Given the description of an element on the screen output the (x, y) to click on. 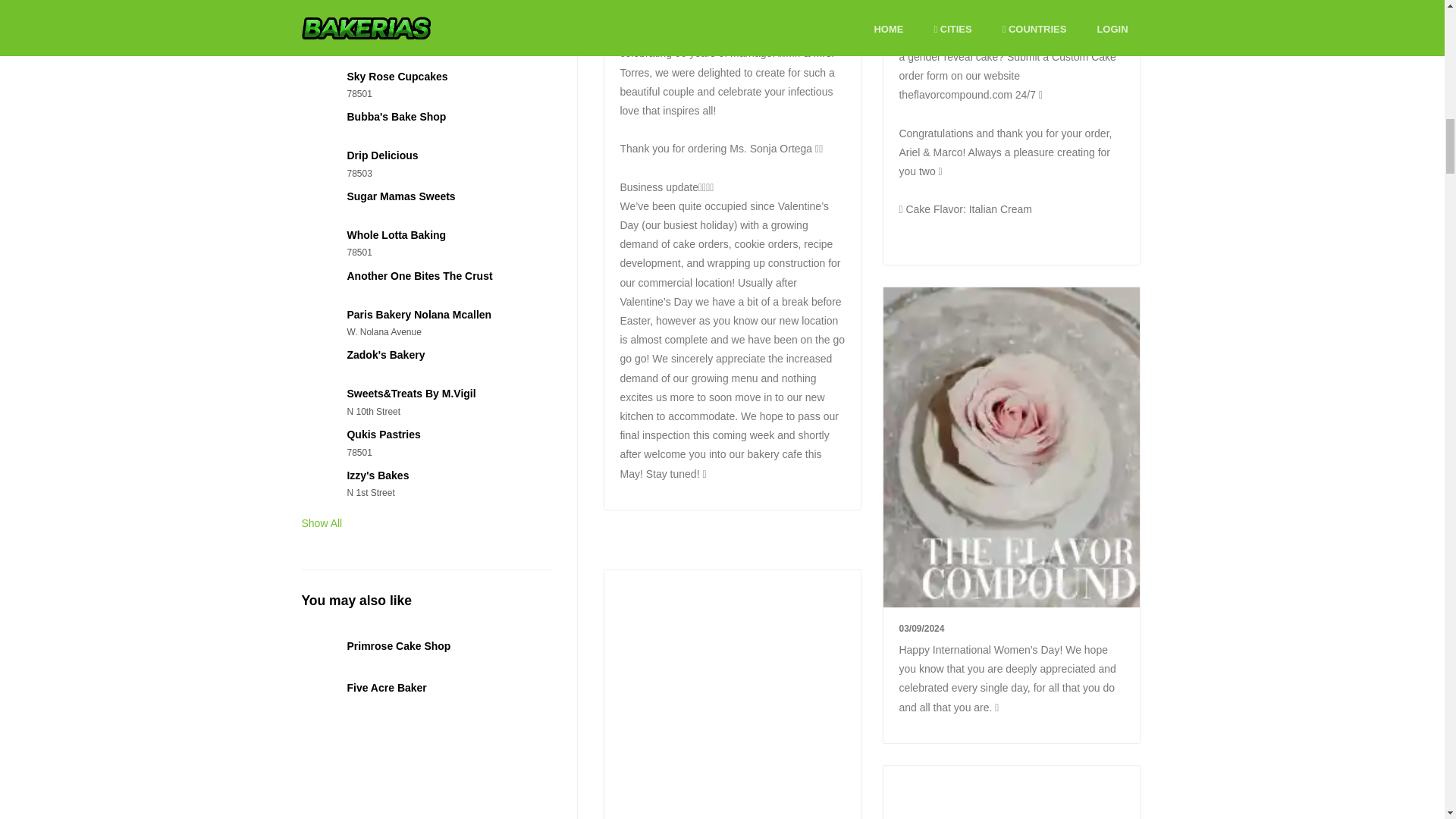
Drip Delicious (381, 155)
Sky Rose Cupcakes (396, 76)
ABE's Pugon (379, 35)
Sugar Mamas Sweets (400, 196)
Bubba's Bake Shop (395, 116)
